Given the description of an element on the screen output the (x, y) to click on. 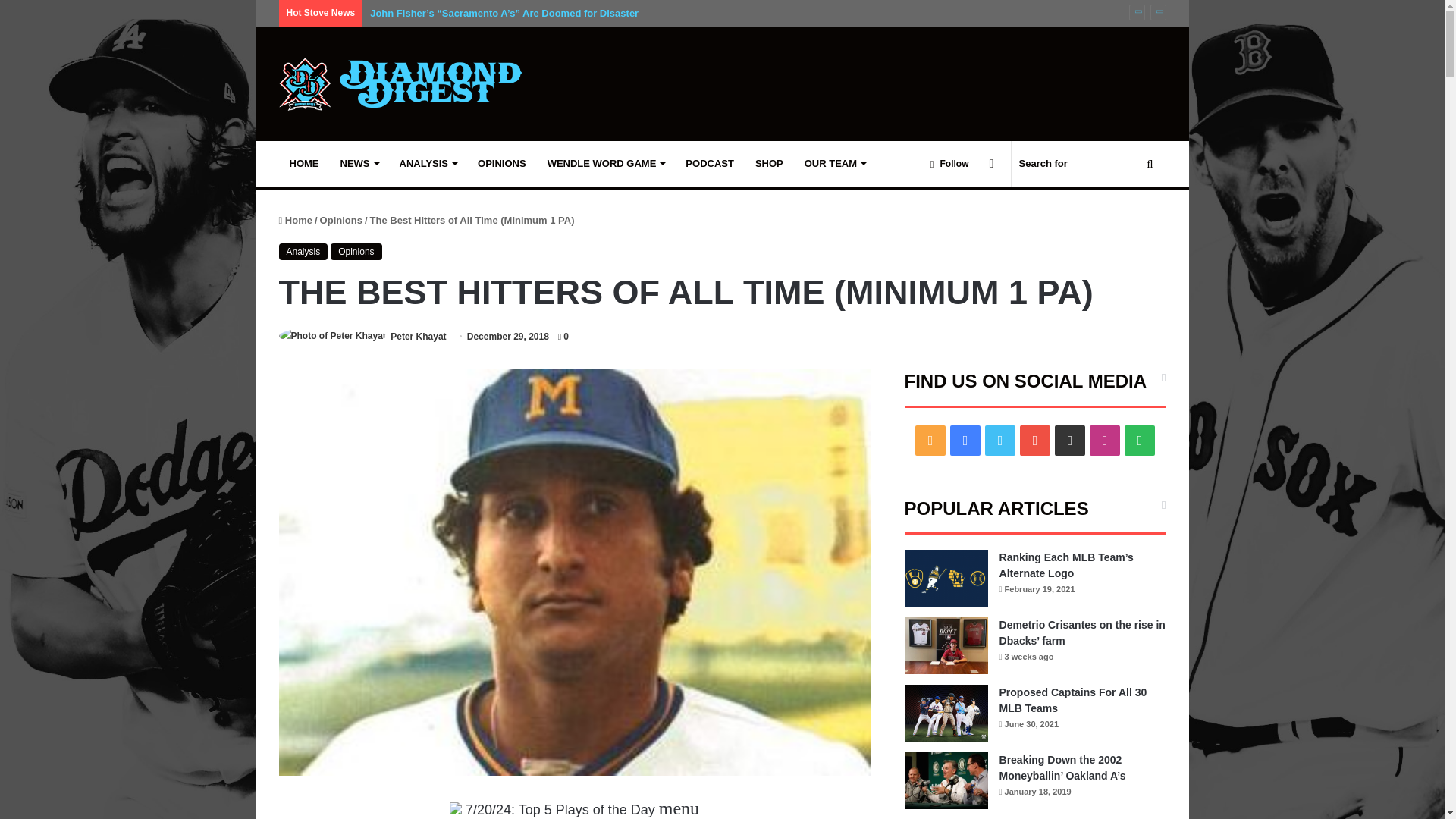
OPINIONS (502, 163)
Search for (1088, 163)
ANALYSIS (427, 163)
HOME (304, 163)
PODCAST (709, 163)
Follow (948, 163)
NEWS (358, 163)
Peter Khayat (417, 336)
WENDLE WORD GAME (606, 163)
SHOP (768, 163)
Diamond Digest (400, 83)
OUR TEAM (834, 163)
